Given the description of an element on the screen output the (x, y) to click on. 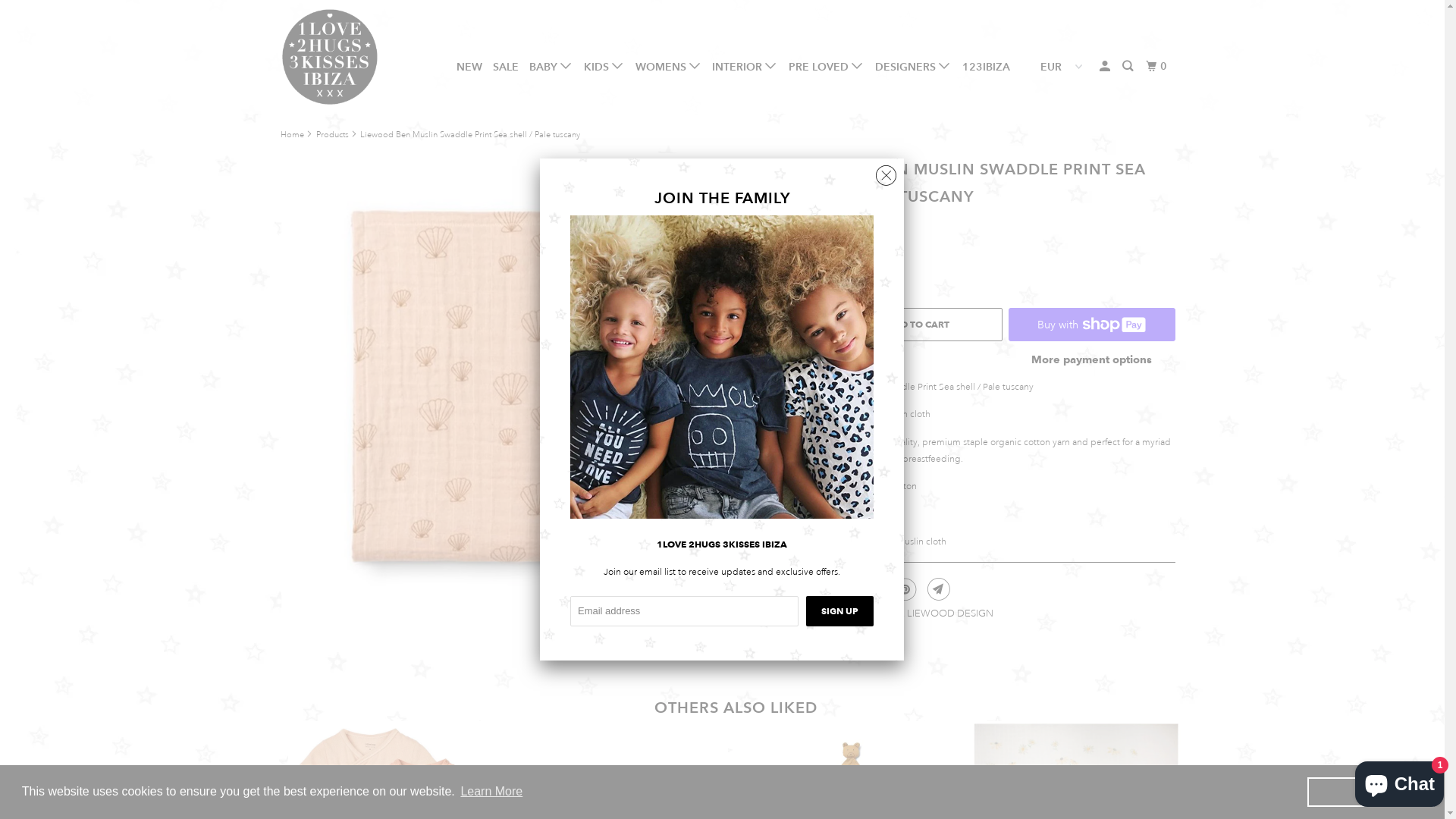
WOMENS Element type: text (668, 66)
0 Element type: text (1157, 66)
SALE Element type: text (505, 66)
Close Element type: hover (885, 171)
BABY Element type: text (859, 613)
Products Element type: text (332, 134)
Liewood Ben Muslin Swaddle Print Sea shell / Pale tuscany Element type: hover (528, 400)
NEW Element type: text (469, 66)
Got it! Element type: text (1370, 791)
Share this on Twitter Element type: hover (836, 588)
LIEWOOD DESIGN Element type: text (949, 613)
Sign Up Element type: text (839, 611)
DESIGNERS Element type: text (913, 66)
More payment options Element type: text (1091, 364)
1love2hugs3kisses Ibiza Element type: hover (358, 56)
CARE Element type: text (889, 613)
Email this to a friend Element type: hover (936, 588)
INTERIOR Element type: text (745, 66)
My Account  Element type: hover (1105, 66)
Home Element type: text (292, 134)
PRE LOVED Element type: text (826, 66)
Learn More Element type: text (491, 791)
Sea shell / Pale tuscany Element type: text (839, 229)
123IBIZA Element type: text (986, 66)
Shopify online store chat Element type: hover (1399, 780)
BABY Element type: text (551, 66)
KIDS Element type: text (603, 66)
Share this on Pinterest Element type: hover (903, 588)
ADD TO CART Element type: text (918, 324)
Search Element type: hover (1128, 66)
Share this on Facebook Element type: hover (869, 588)
